Given the description of an element on the screen output the (x, y) to click on. 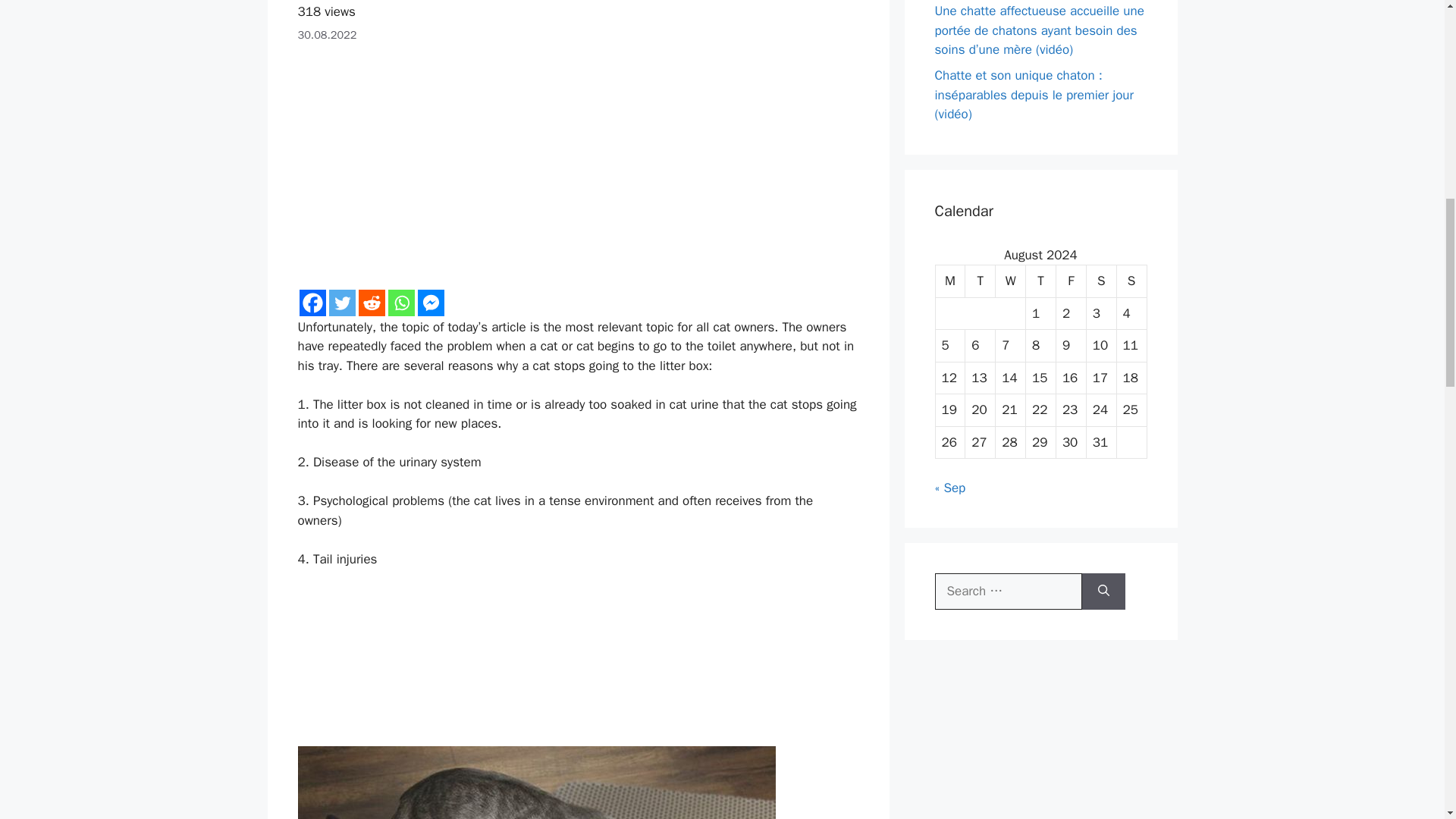
Monday (951, 281)
Twitter (342, 302)
Reddit (371, 302)
Facebook (311, 302)
Whatsapp (401, 302)
